Given the description of an element on the screen output the (x, y) to click on. 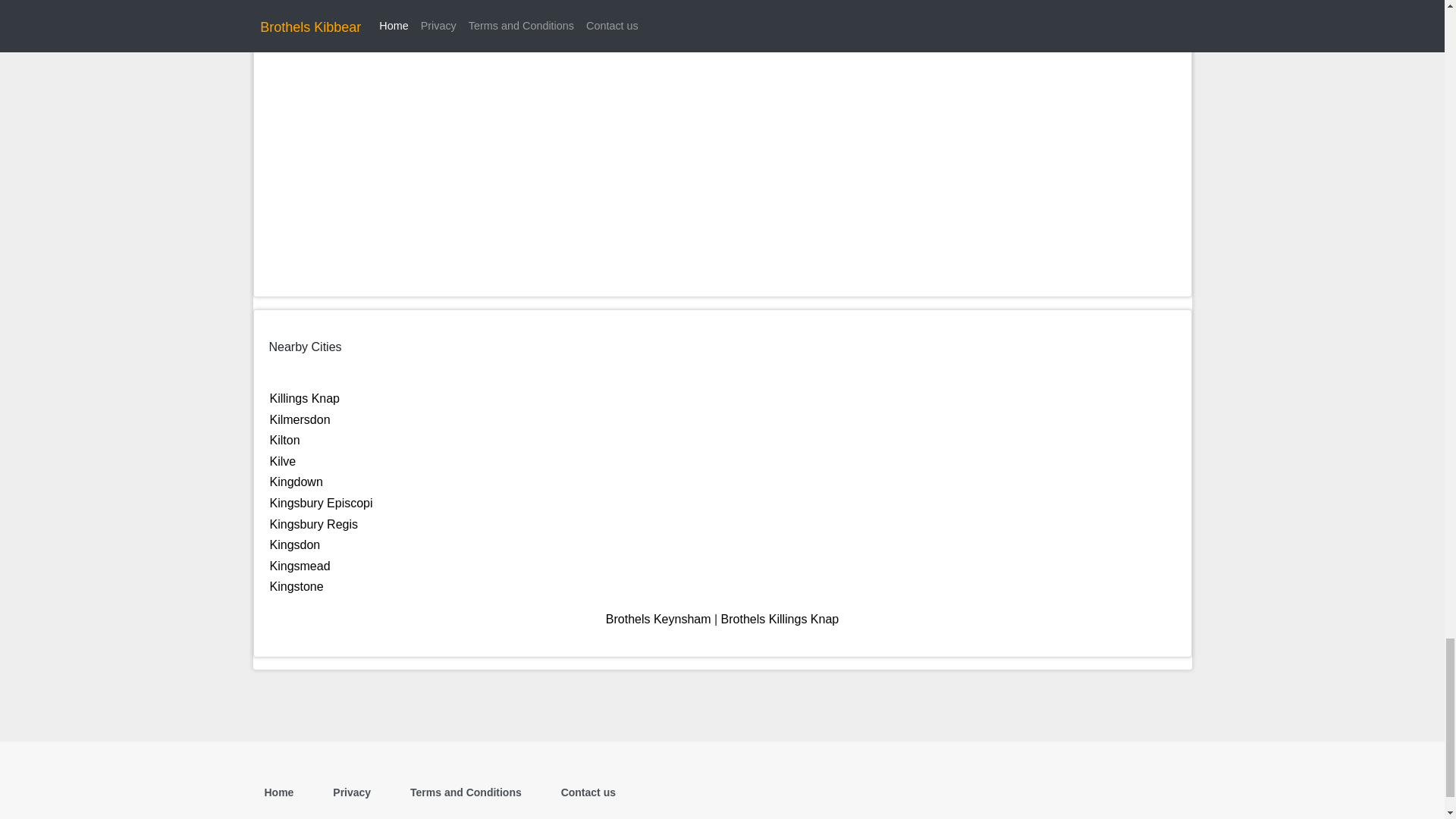
Kingsmead (299, 565)
Kingsdon (294, 544)
Brothels Killings Knap (780, 618)
Brothels Keynsham (658, 618)
Kingstone (296, 585)
Kingdown (296, 481)
Kilmersdon (299, 419)
Kingsbury Regis (313, 523)
Kilton (284, 440)
Kingsbury Episcopi (320, 502)
Kilve (283, 461)
Killings Knap (304, 398)
